Given the description of an element on the screen output the (x, y) to click on. 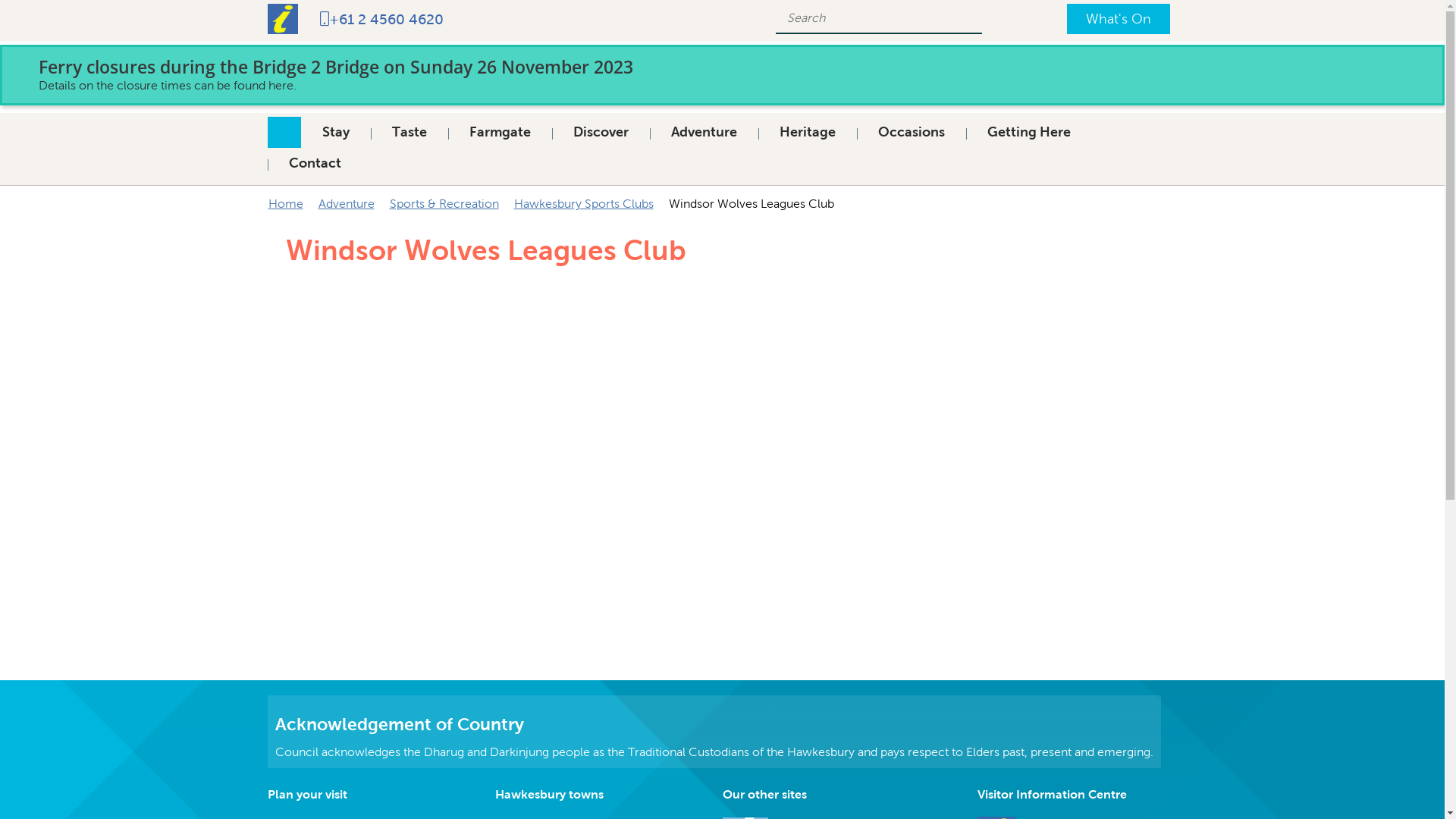
Discover Element type: text (600, 132)
Taste Element type: text (408, 132)
Farmgate Element type: text (499, 132)
Hawkesbury Sports Clubs Element type: text (583, 203)
Adventure Element type: text (346, 203)
Occasions Element type: text (911, 132)
Home Element type: text (283, 131)
Contact Element type: text (313, 163)
Heritage Element type: text (807, 132)
Sports & Recreation Element type: text (443, 203)
Search Element type: text (963, 17)
Stay Element type: text (335, 132)
What's On Element type: text (1117, 18)
Getting Here Element type: text (1029, 132)
Search Field Element type: hover (857, 17)
Home Element type: text (285, 203)
Adventure Element type: text (703, 132)
